Given the description of an element on the screen output the (x, y) to click on. 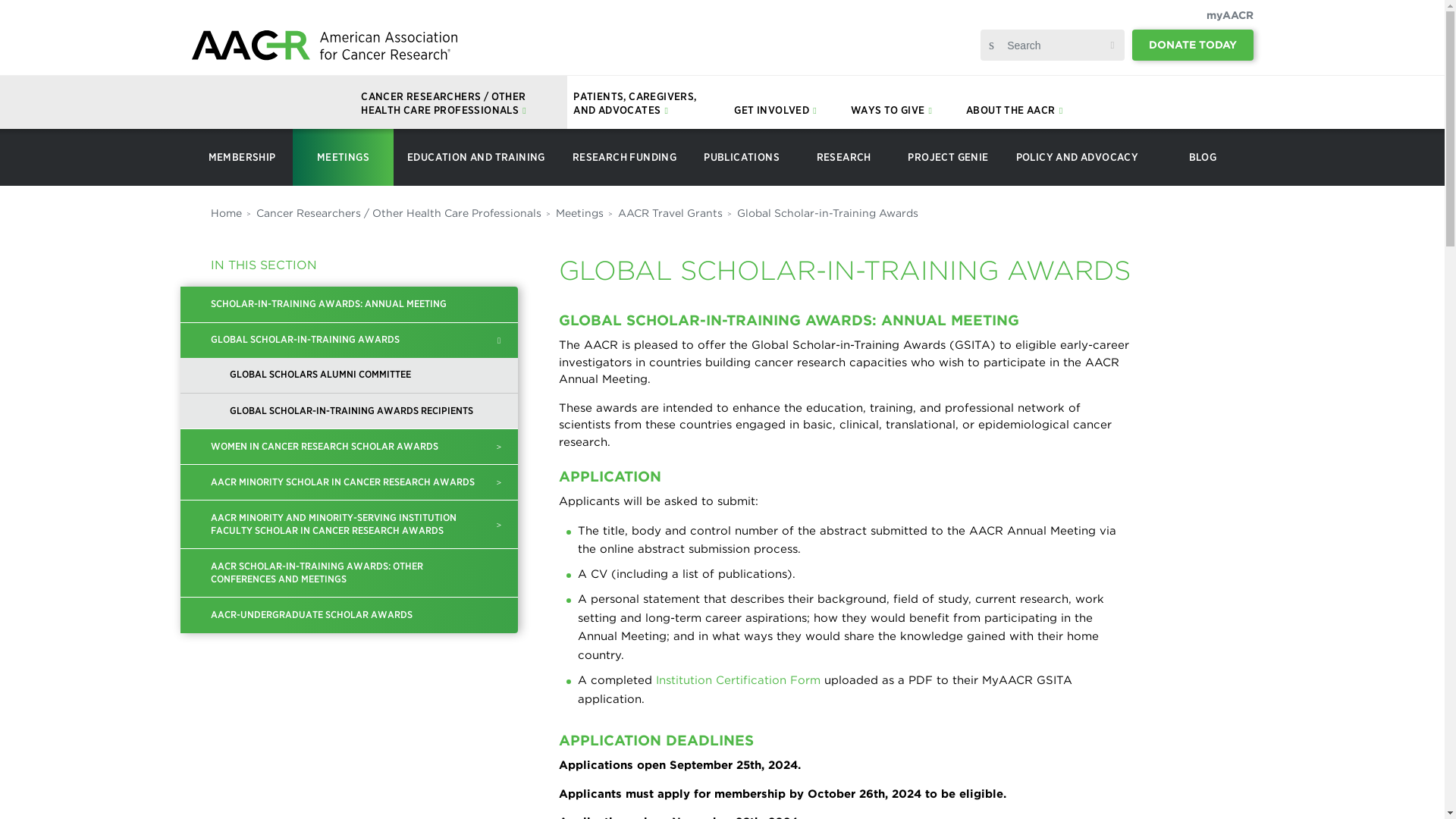
Search for: (1053, 45)
myAACR (1228, 15)
DONATE TODAY (1192, 44)
